Given the description of an element on the screen output the (x, y) to click on. 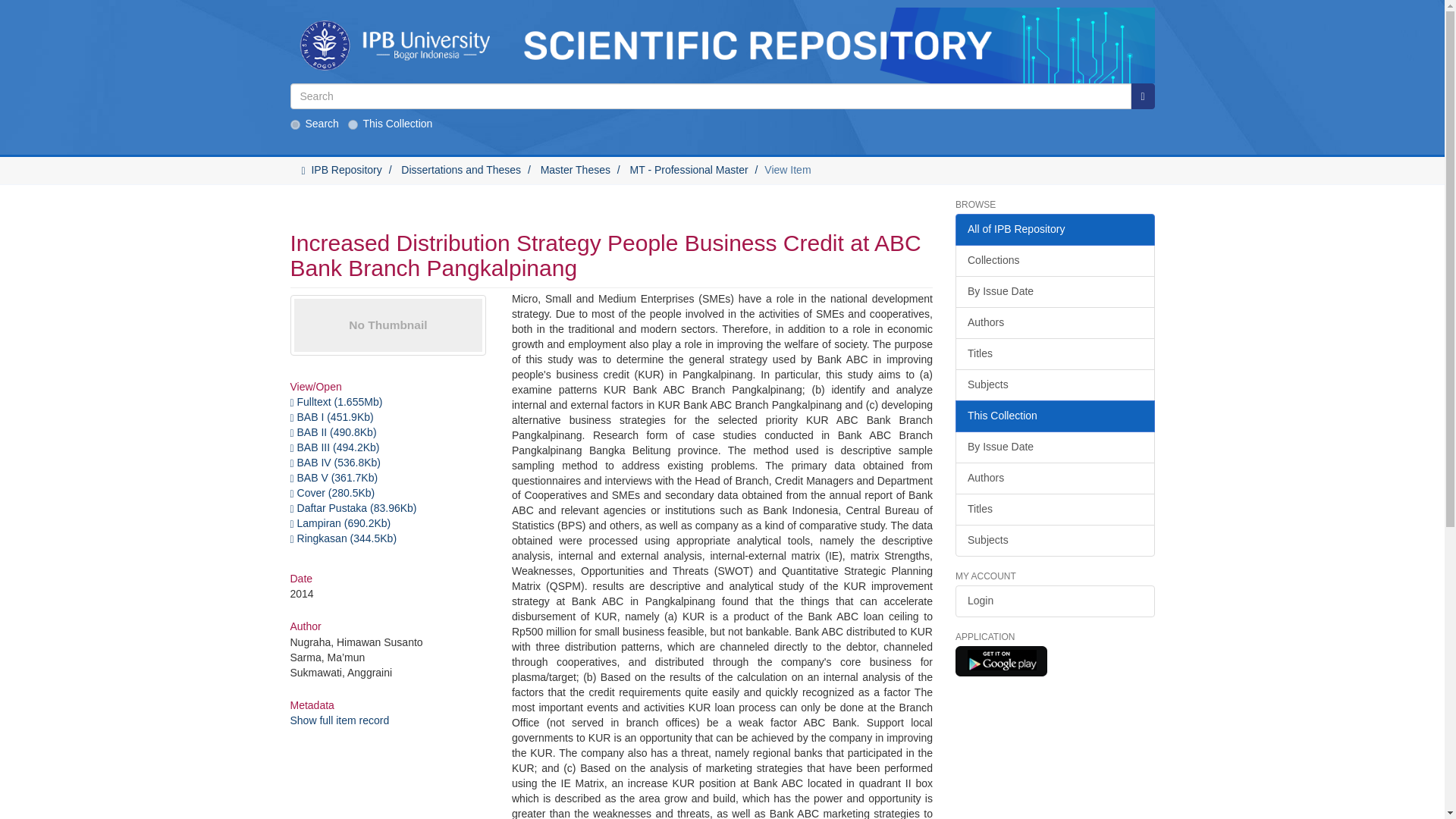
Master Theses (575, 169)
Dissertations and Theses (461, 169)
Collections (1054, 260)
IPB Repository (346, 169)
MT - Professional Master (689, 169)
Show full item record (338, 720)
Go (1142, 95)
Authors (1054, 323)
By Issue Date (1054, 291)
Titles (1054, 354)
All of IPB Repository (1054, 229)
